Given the description of an element on the screen output the (x, y) to click on. 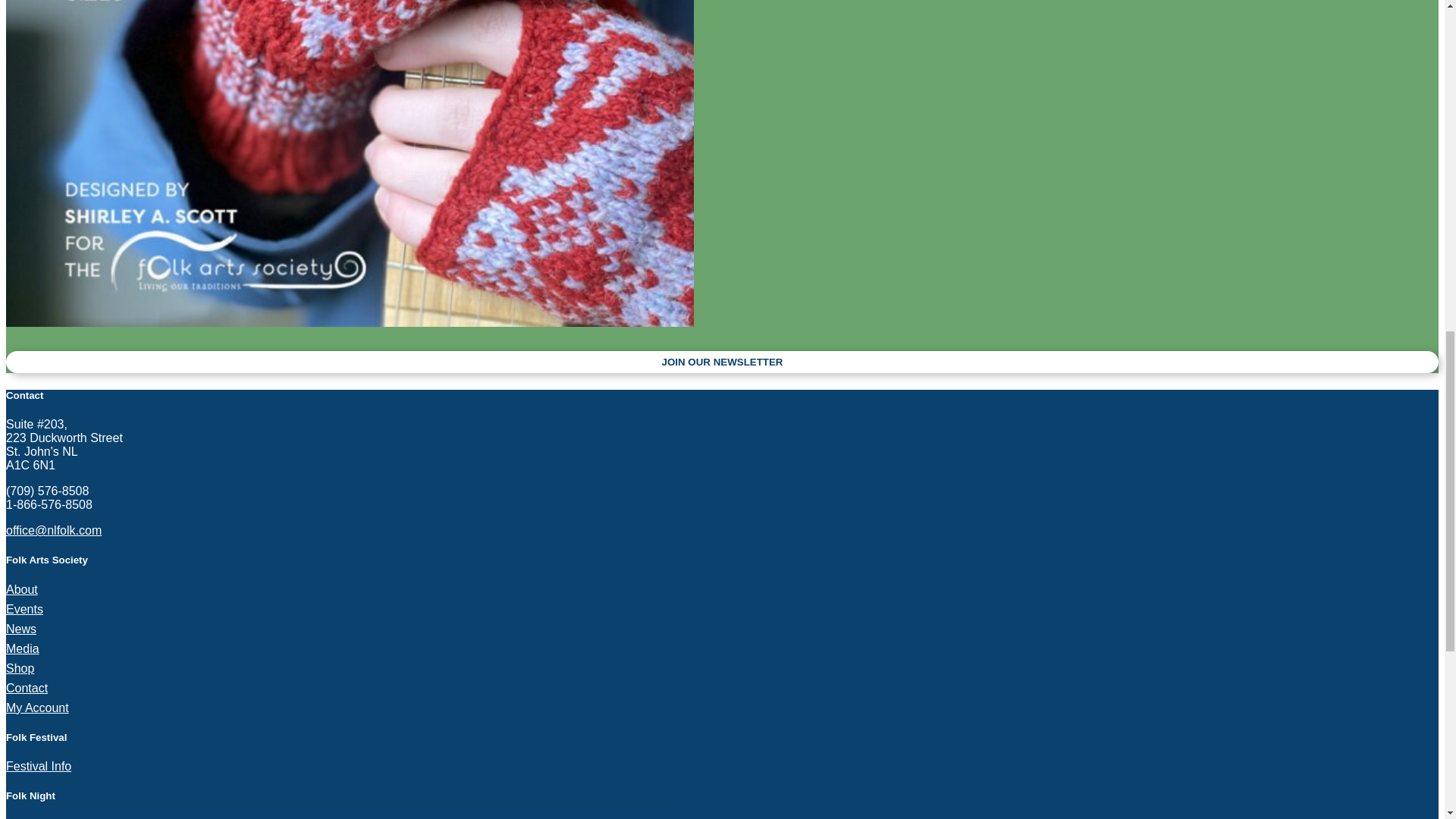
About (21, 589)
Contact (26, 687)
My Account (36, 707)
Media (22, 648)
News (20, 628)
Shop (19, 667)
Events (24, 608)
